Given the description of an element on the screen output the (x, y) to click on. 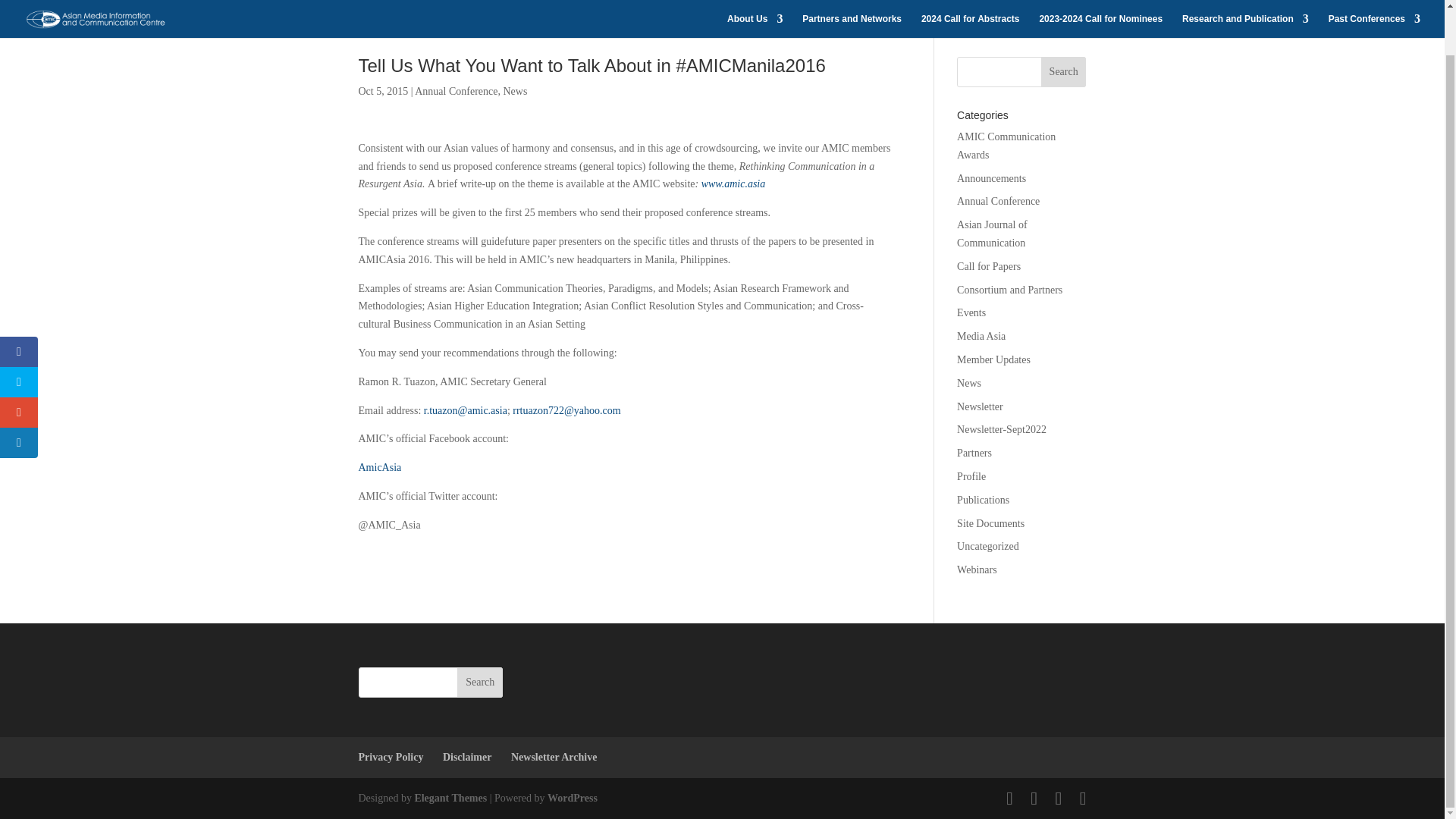
Search (1063, 71)
Search (479, 682)
Premium WordPress Themes (449, 797)
